Given the description of an element on the screen output the (x, y) to click on. 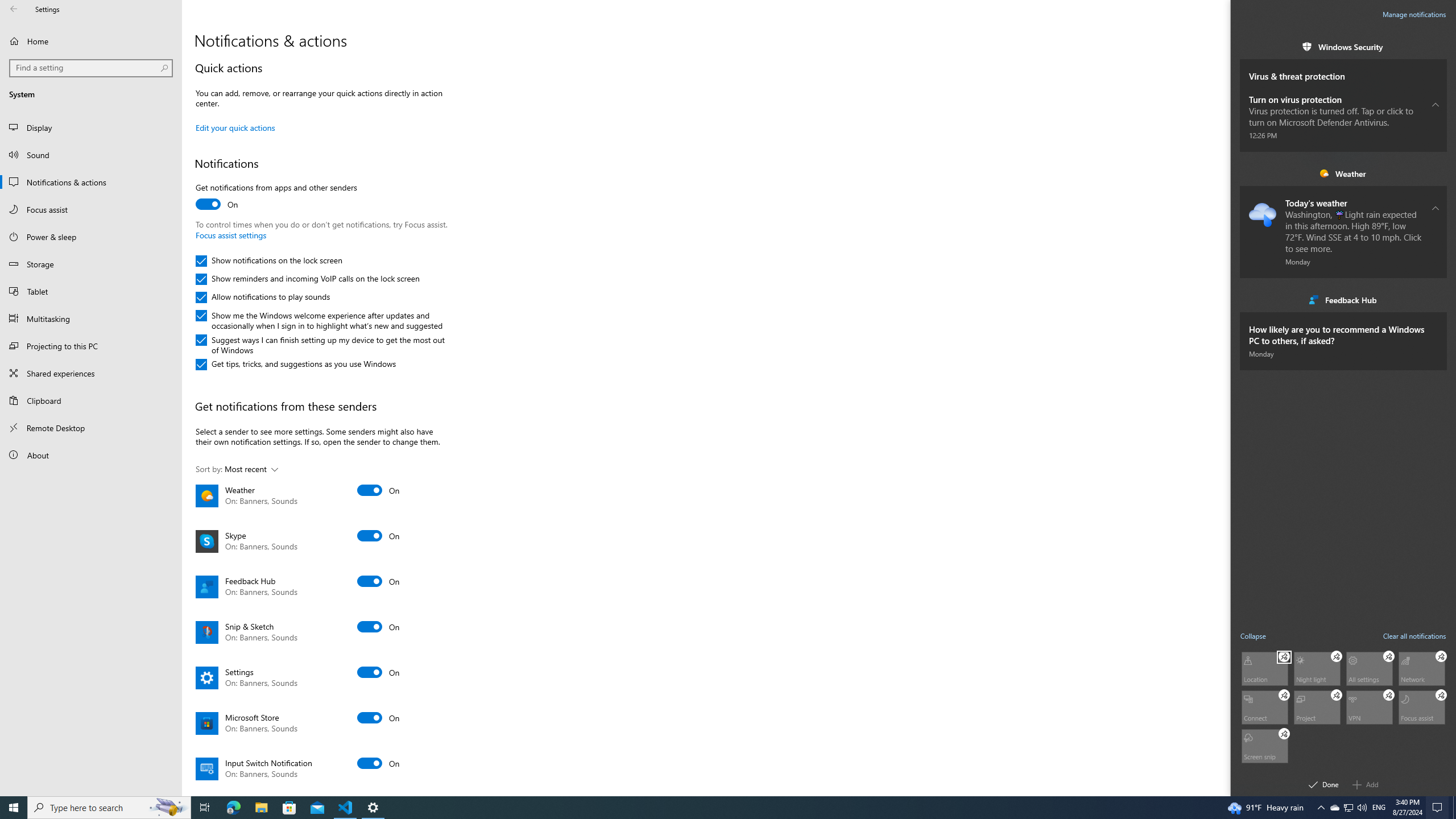
VPN Unpin (1388, 695)
Location (1264, 667)
Focus assist (1421, 706)
Clear all notifications for Virus & threat protection (1435, 69)
All settings Unpin (1388, 655)
Settings for this notification (1435, 333)
Project Unpin (1336, 695)
Collapse this notification (1435, 207)
Night light (1316, 667)
Type here to search (108, 807)
Connect (1264, 706)
Connect Unpin (1284, 695)
